Given the description of an element on the screen output the (x, y) to click on. 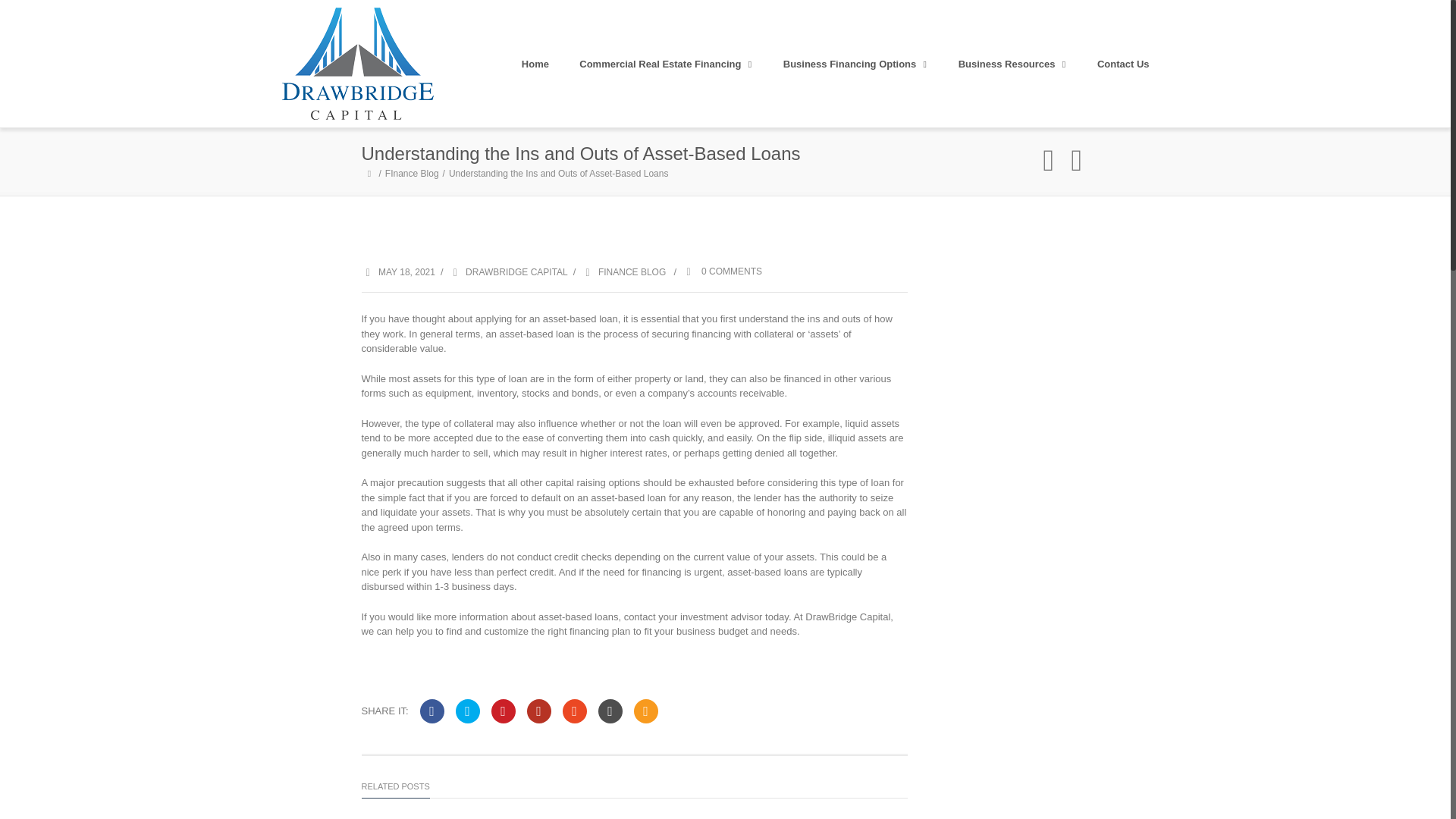
DrawBridge Capital (357, 63)
Email this Post (645, 711)
Business Financing Options (856, 63)
Posts by DrawBridge Capital (516, 271)
Business Resources (1012, 63)
Share on StumbleUpon (574, 711)
Share on Google Plus (539, 711)
Pin on Pinterest (503, 711)
Commercial Real Estate Financing (666, 63)
Share on Facebook (432, 711)
